Given the description of an element on the screen output the (x, y) to click on. 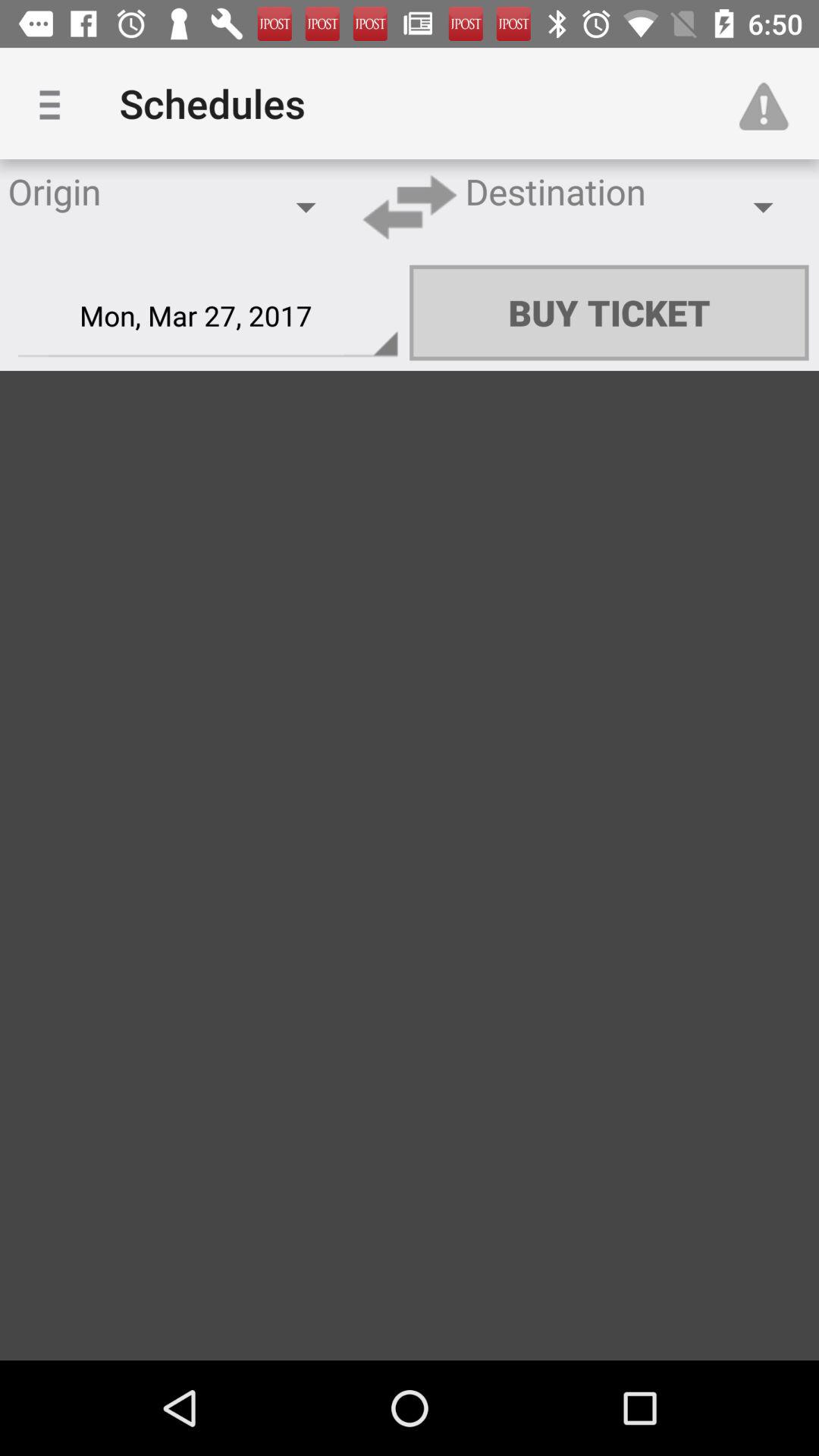
select item to the left of the buy ticket item (207, 316)
